Given the description of an element on the screen output the (x, y) to click on. 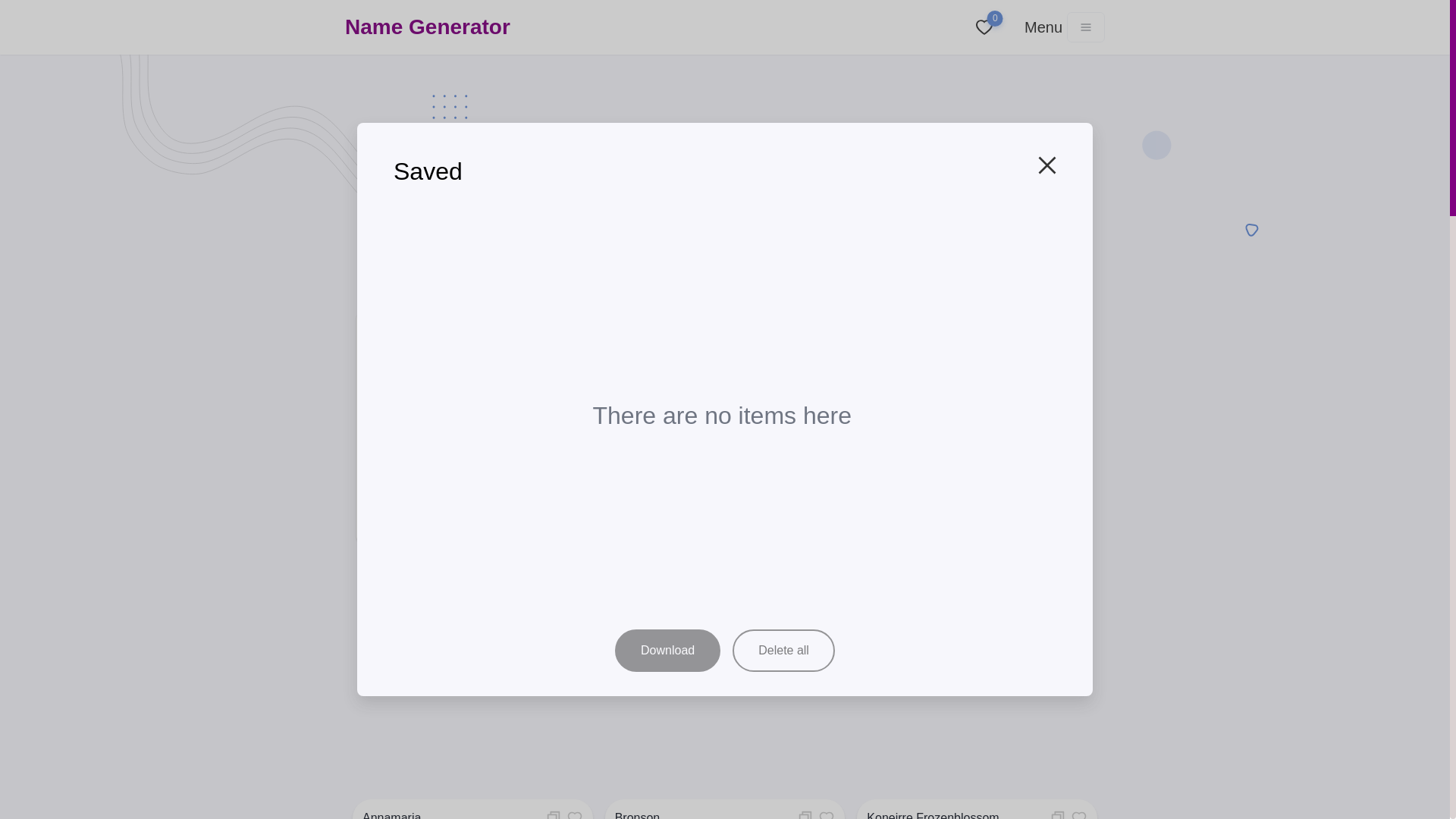
Name Generator (428, 26)
Download (667, 650)
Generate (850, 502)
Delete all (783, 650)
Home (648, 334)
